Given the description of an element on the screen output the (x, y) to click on. 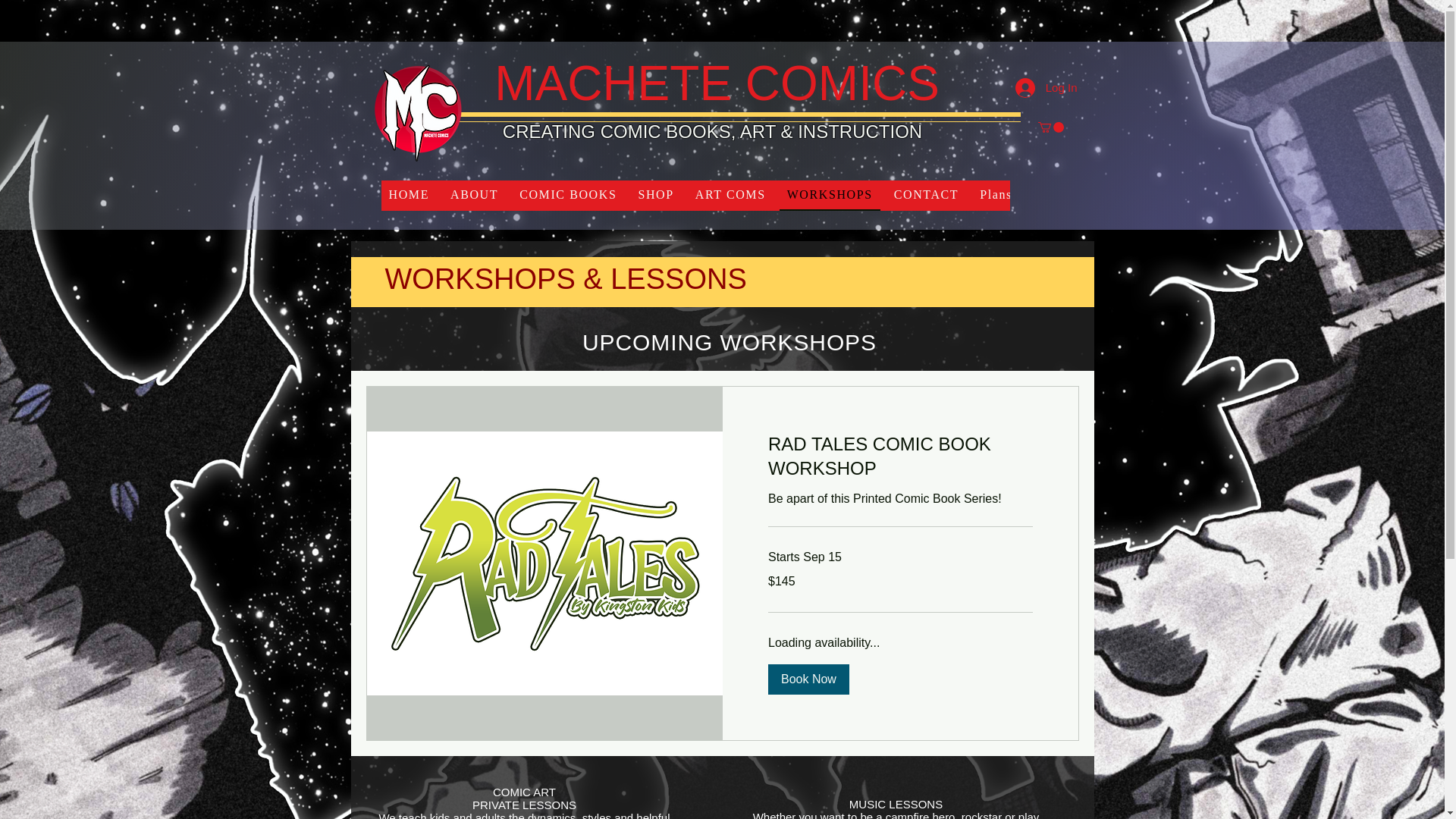
SHOP (655, 195)
HOME (408, 195)
ART COMS (730, 195)
Book Now (807, 679)
COMIC BOOKS (568, 195)
Log In (1045, 87)
WORKSHOPS (829, 195)
ABOUT (473, 195)
CONTACT (926, 195)
RAD TALES COMIC BOOK WORKSHOP (899, 456)
